Given the description of an element on the screen output the (x, y) to click on. 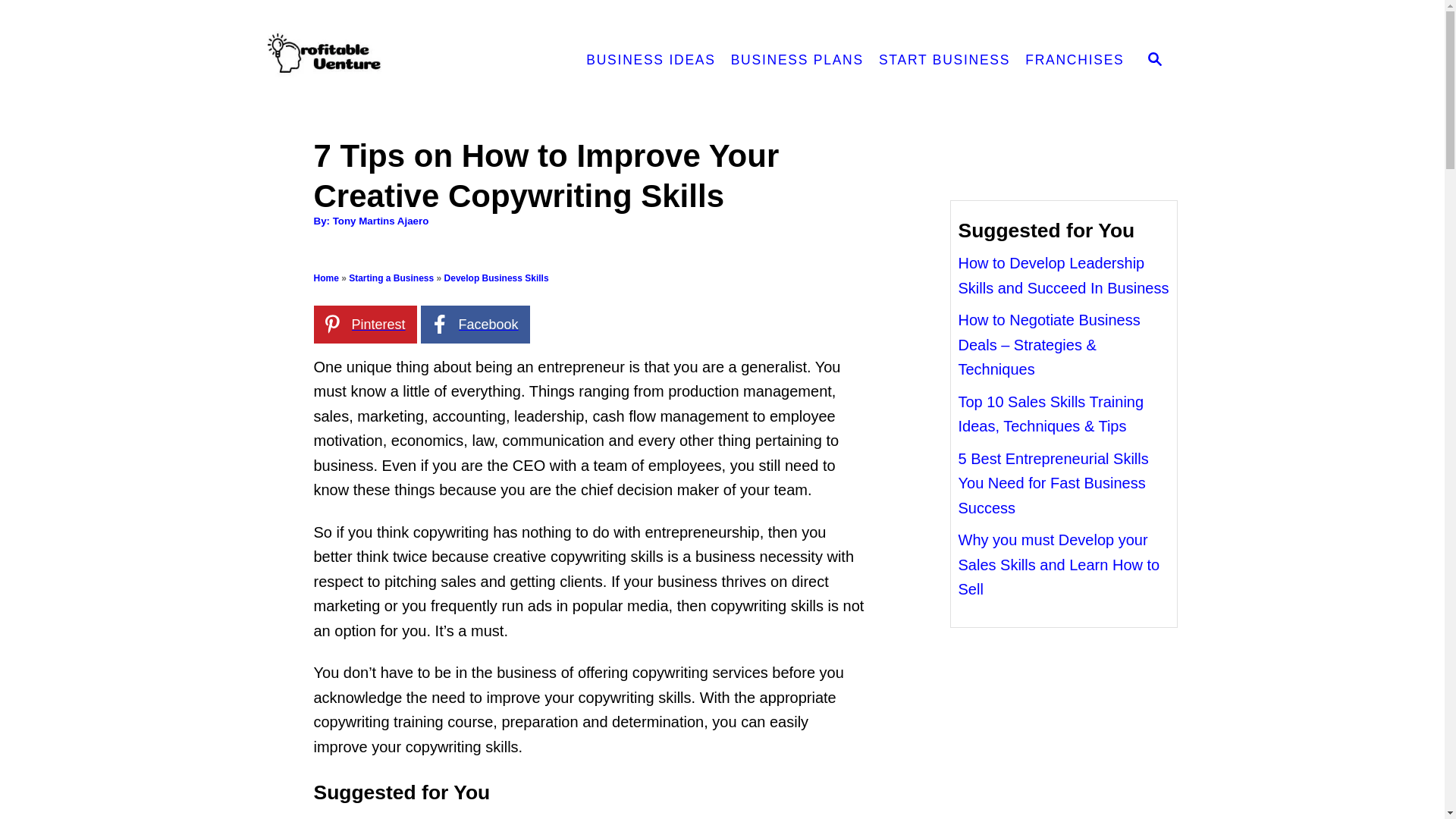
SEARCH (1154, 60)
Starting a Business (391, 277)
START BUSINESS (943, 60)
Why you must Develop your Sales Skills and Learn How to Sell (1059, 564)
FRANCHISES (1074, 60)
Why you must Develop your Sales Skills and Learn How to Sell (1059, 564)
BUSINESS IDEAS (650, 60)
ProfitableVenture (400, 60)
Develop Business Skills (496, 277)
